Given the description of an element on the screen output the (x, y) to click on. 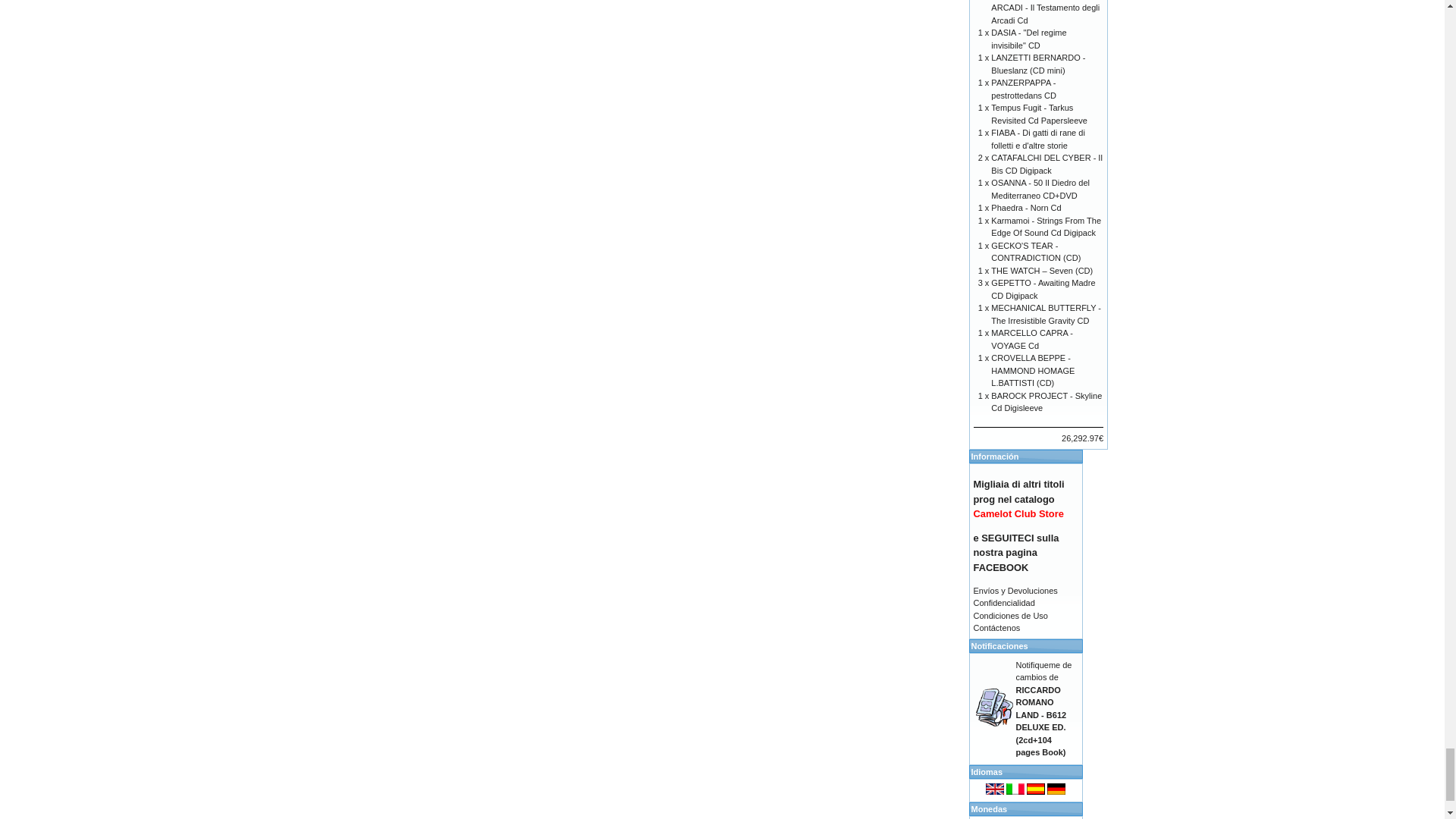
Espanol (1035, 788)
English (994, 788)
Notificaciones (994, 707)
German (1055, 788)
Italiano (1015, 788)
